Given the description of an element on the screen output the (x, y) to click on. 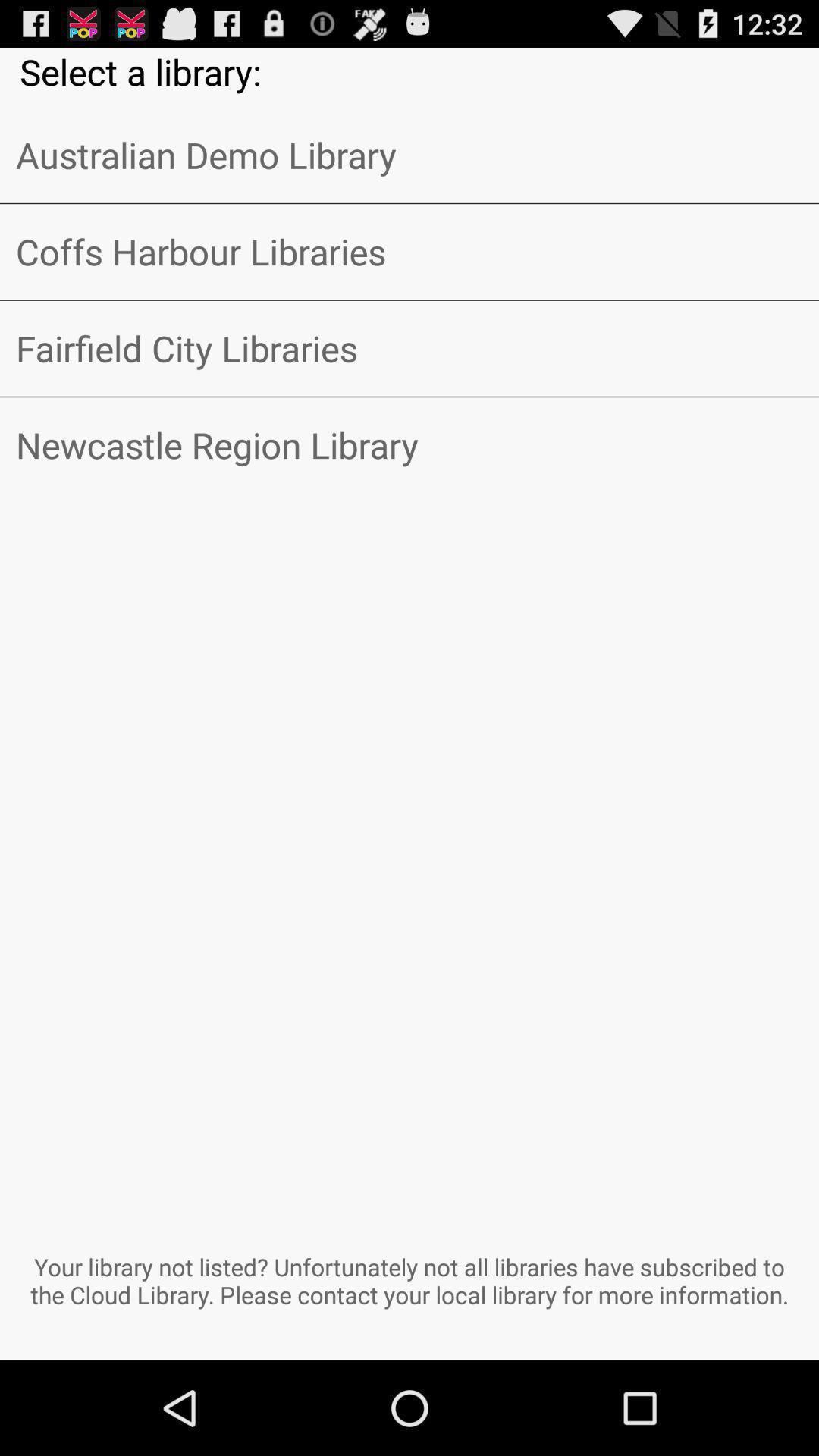
choose the item below australian demo library icon (409, 251)
